Given the description of an element on the screen output the (x, y) to click on. 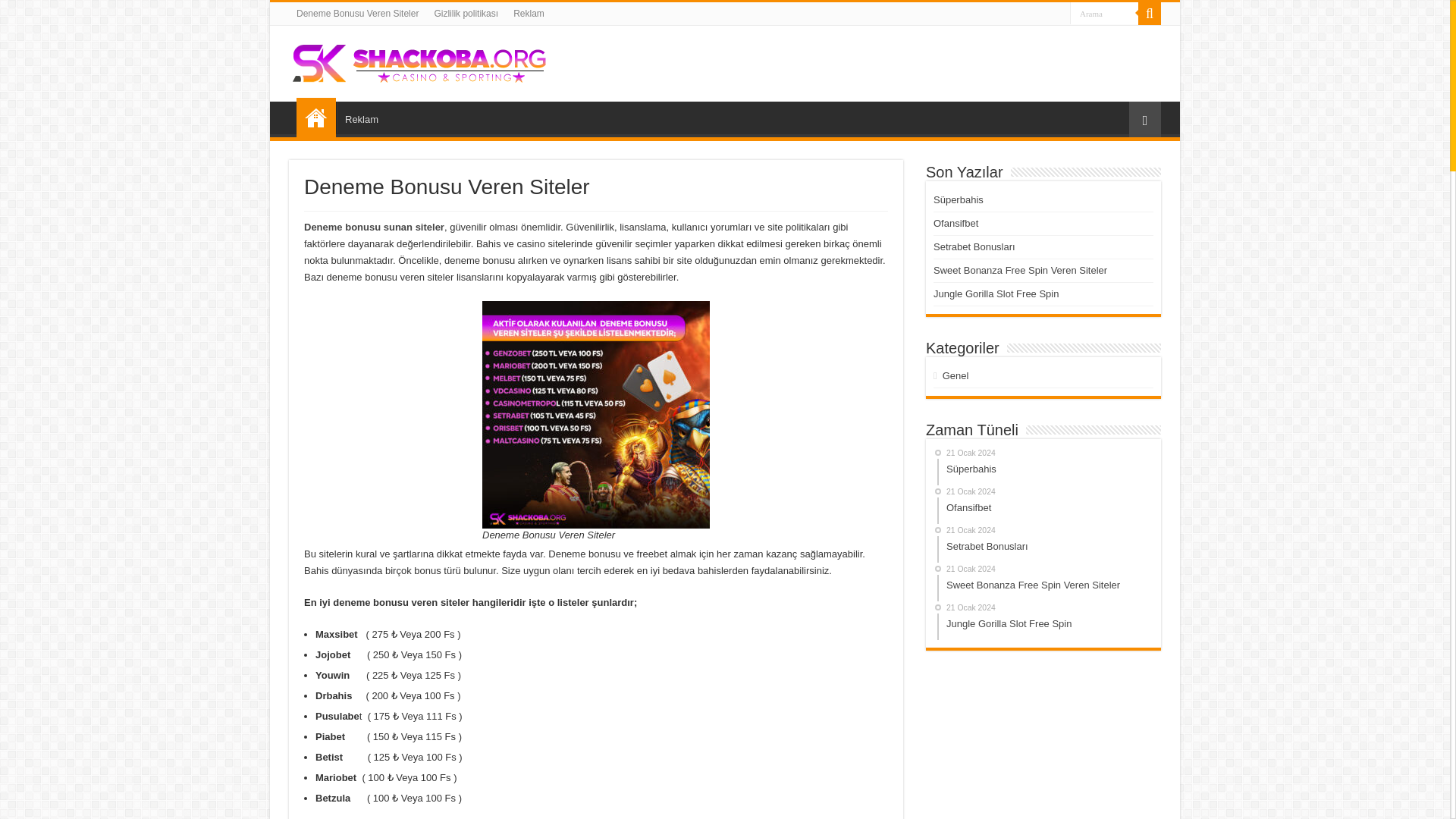
Arama (1104, 13)
Jungle Gorilla Slot Free Spin (995, 293)
Reklam (1045, 504)
Reklam (528, 13)
Arama (360, 117)
Deneme Bonusu Veren Siteler (1104, 13)
Deneme Bonusu Veren Siteler (421, 60)
Deneme bonusu sunan siteler (316, 117)
Sweet Bonanza Free Spin Veren Siteler (374, 226)
Genel (1019, 270)
Arama (955, 375)
Arama (1045, 581)
Deneme Bonusu Veren Siteler (1104, 13)
